Given the description of an element on the screen output the (x, y) to click on. 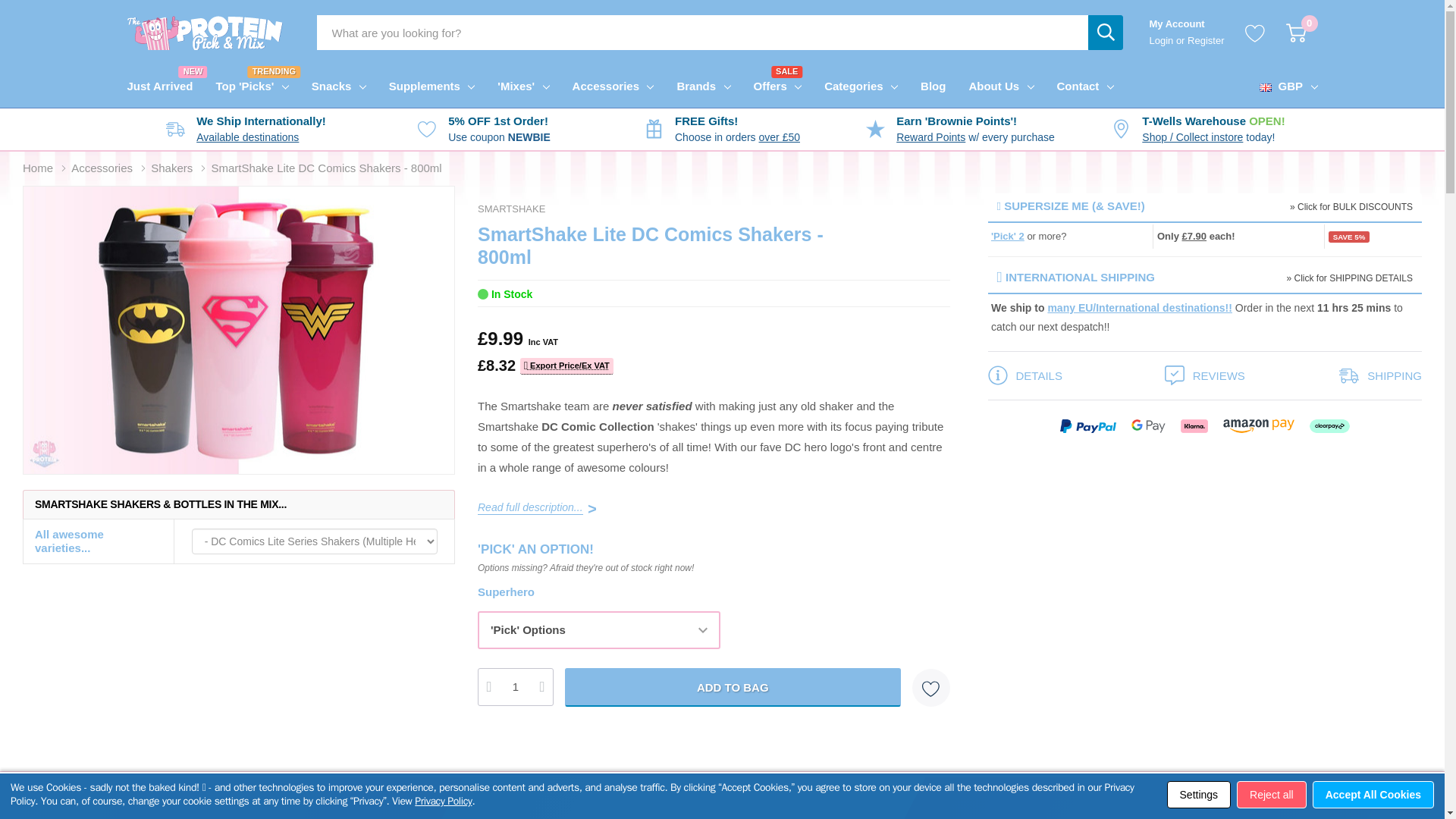
Add to Bag (732, 687)
1 (515, 686)
The Protein Pick and Mix (166, 86)
Register (205, 32)
Wishlists (1206, 40)
Login (1254, 32)
Snacks (1161, 40)
0 (331, 86)
